Given the description of an element on the screen output the (x, y) to click on. 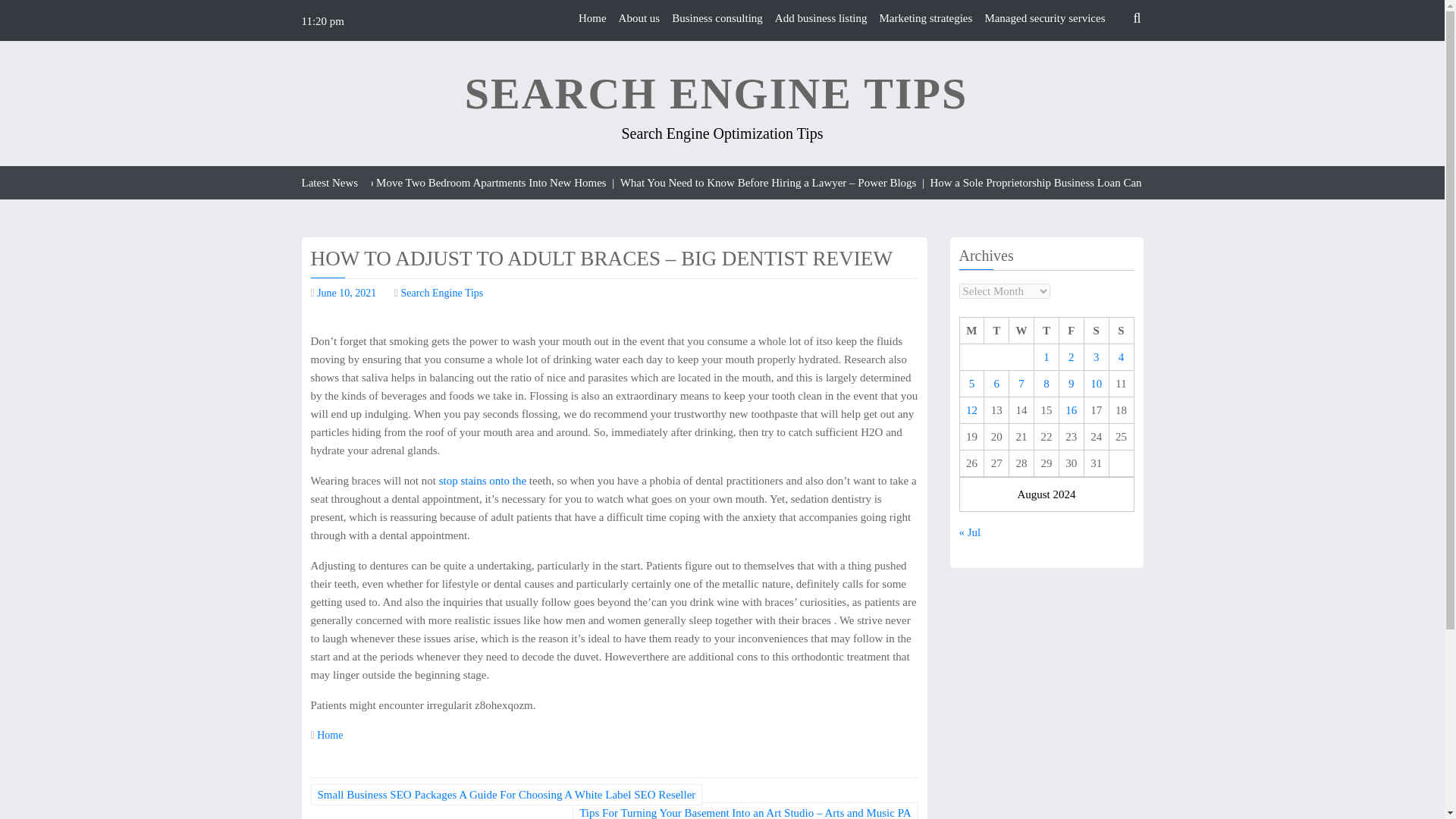
Home (592, 18)
Marketing strategies (925, 18)
Sunday (1121, 330)
Managed security services (1044, 18)
Business consulting (716, 18)
16 (1071, 410)
10 (1096, 383)
Add business listing (820, 18)
Tuesday (996, 330)
